Given the description of an element on the screen output the (x, y) to click on. 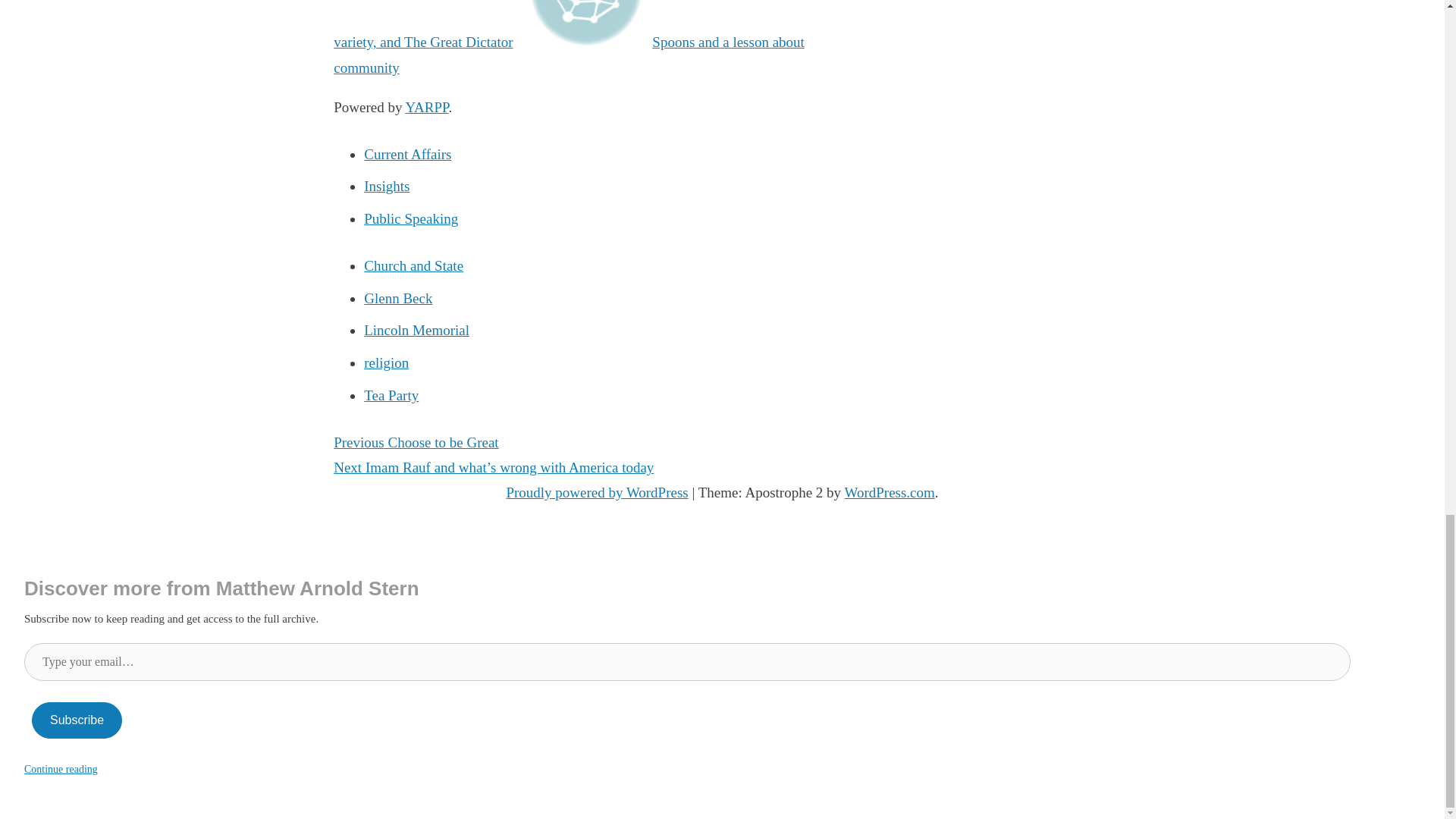
WordPress Related Posts (426, 107)
Body language, vocal variety, and The Great Dictator (588, 24)
Spoons and a lesson about community (569, 54)
Spoons and a lesson about community (569, 54)
Body language, vocal variety, and The Great Dictator (588, 24)
